Given the description of an element on the screen output the (x, y) to click on. 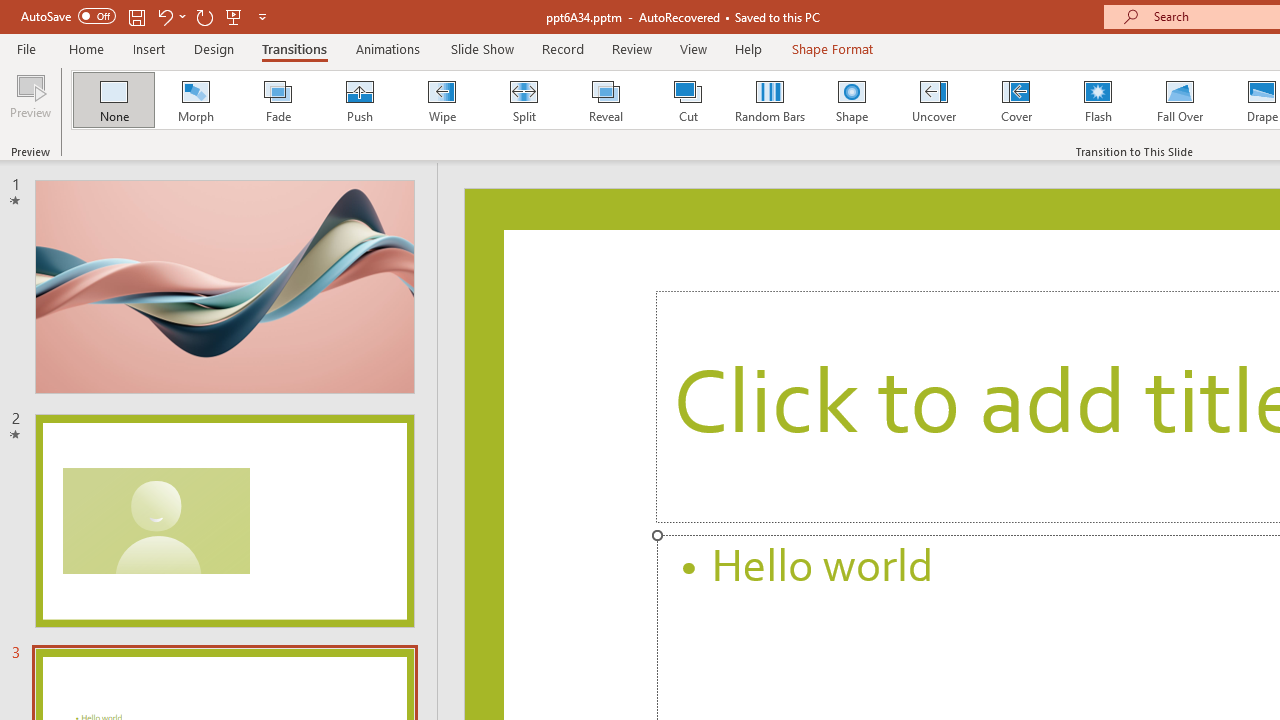
Cover (1016, 100)
None (113, 100)
Random Bars (770, 100)
Shape (852, 100)
